Given the description of an element on the screen output the (x, y) to click on. 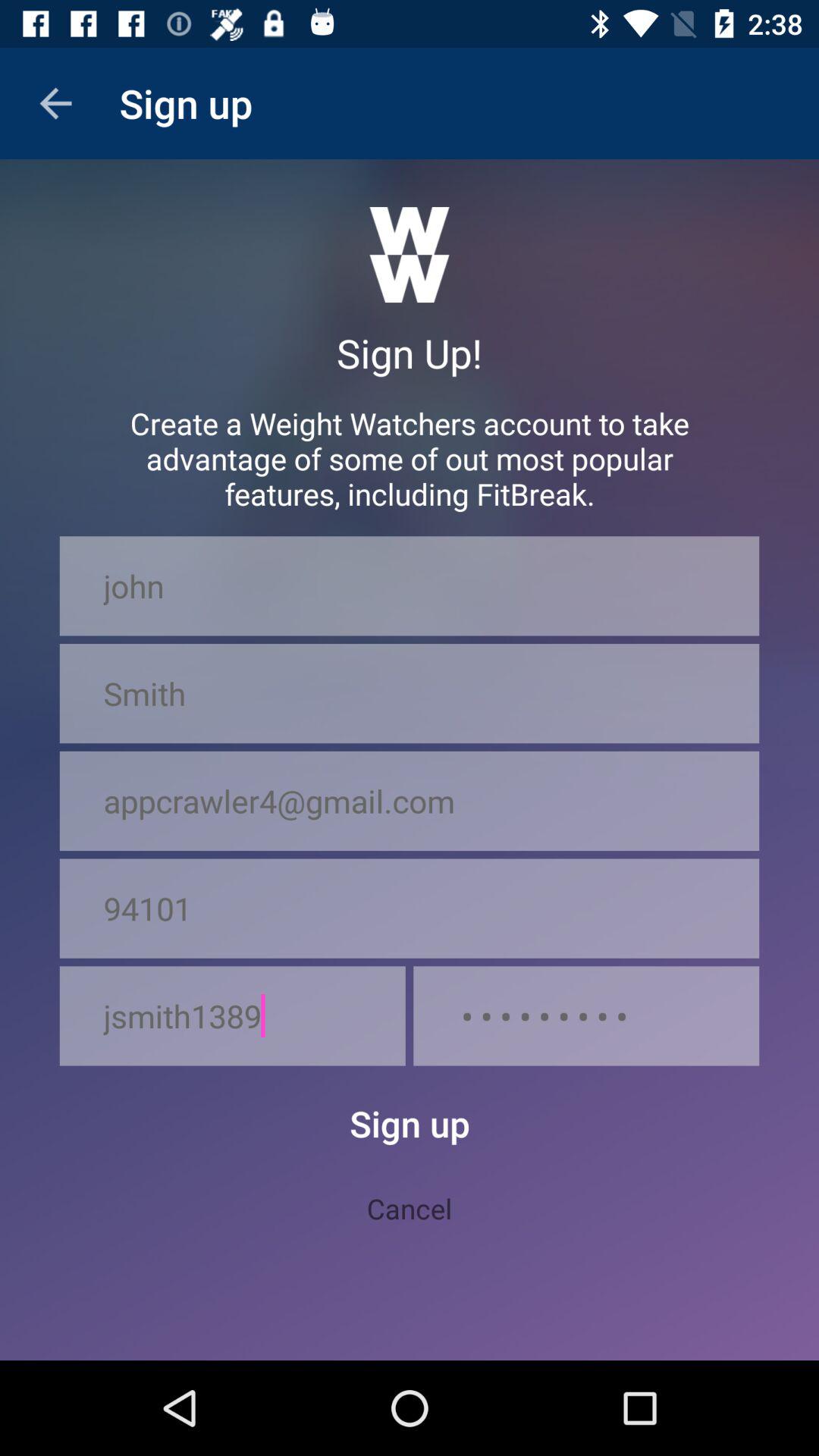
choose the icon below create a weight icon (409, 585)
